Given the description of an element on the screen output the (x, y) to click on. 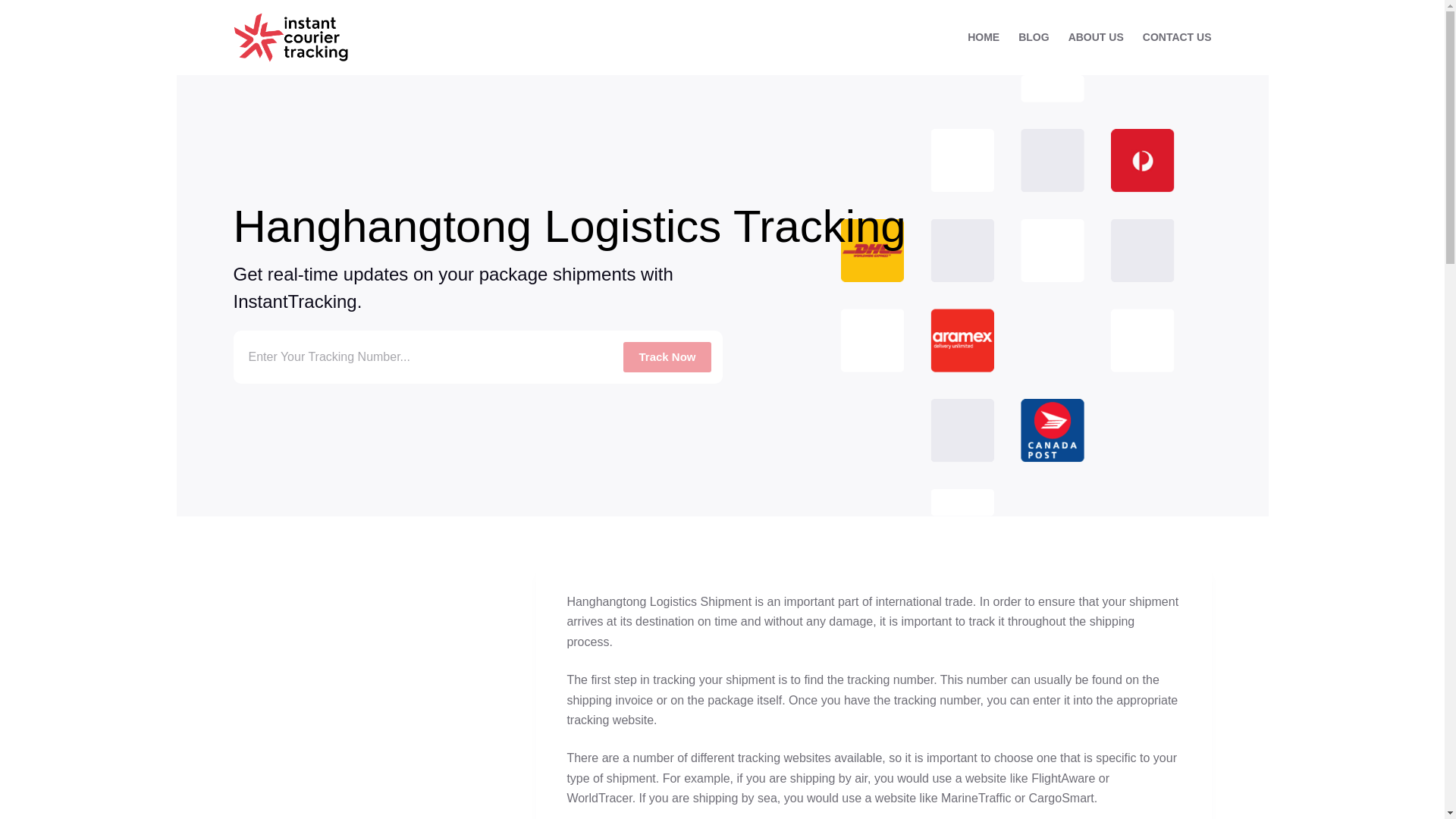
Skip to content (15, 7)
Track Now (666, 357)
CONTACT US (1171, 37)
ABOUT US (1095, 37)
Track Now (666, 357)
